Given the description of an element on the screen output the (x, y) to click on. 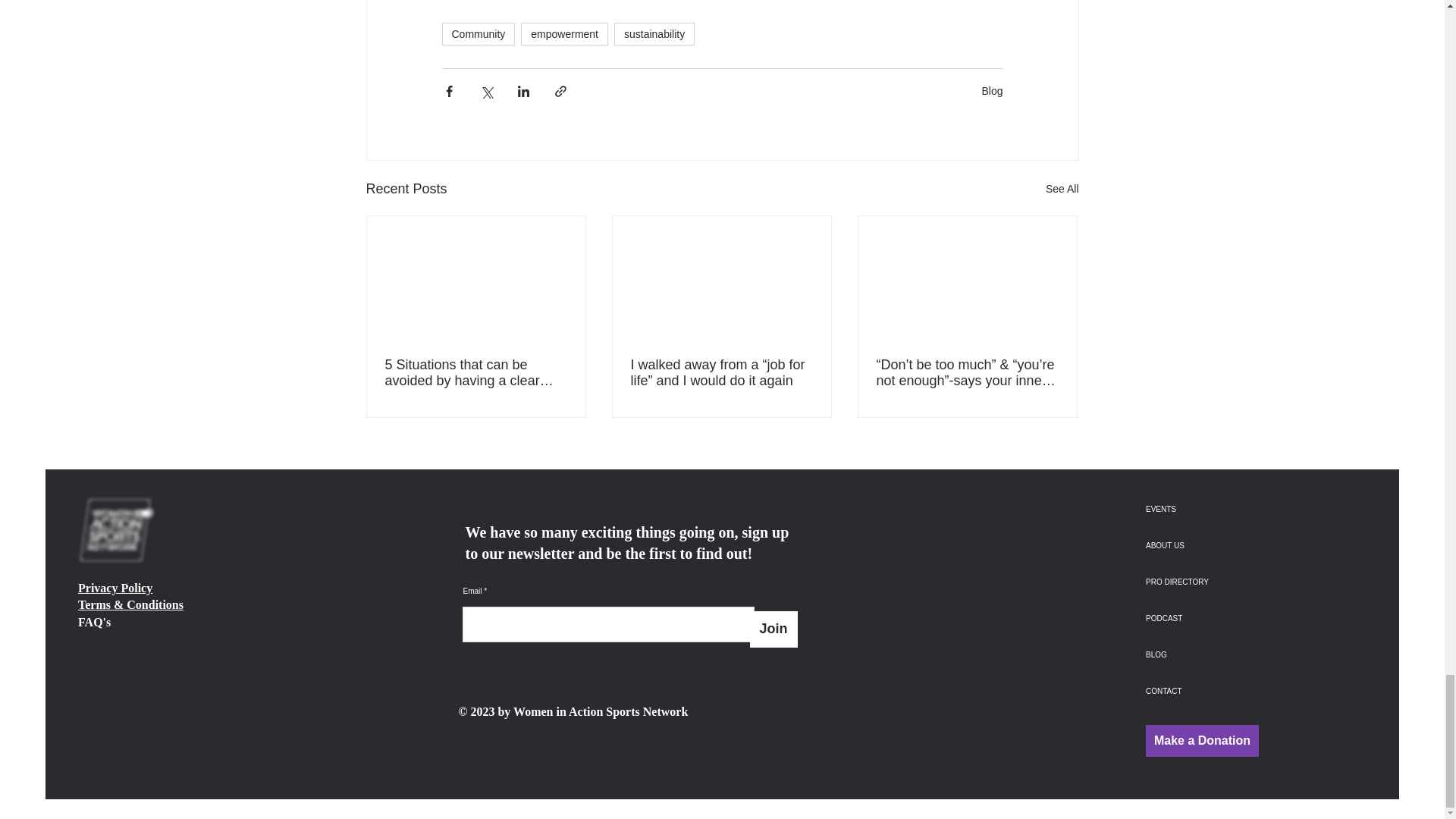
Blog (992, 91)
See All (1061, 188)
5 Situations that can be avoided by having a clear vision (476, 373)
sustainability (654, 33)
empowerment (564, 33)
Community (478, 33)
